Given the description of an element on the screen output the (x, y) to click on. 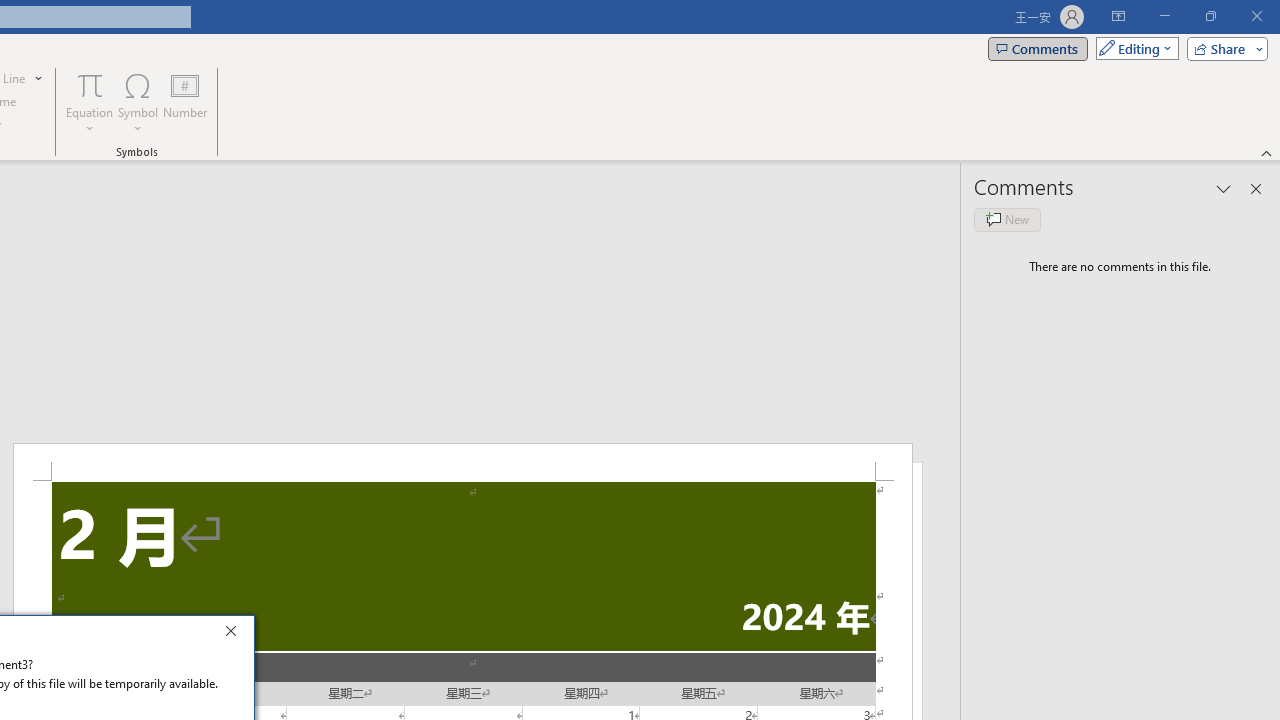
Close (236, 633)
Mode (1133, 47)
Close pane (1256, 188)
Collapse the Ribbon (1267, 152)
Ribbon Display Options (1118, 16)
More Options (90, 121)
Symbol (138, 102)
Share (1223, 48)
Equation (90, 84)
Header -Section 2- (462, 461)
New comment (1007, 219)
Comments (1038, 48)
Task Pane Options (1224, 188)
